Given the description of an element on the screen output the (x, y) to click on. 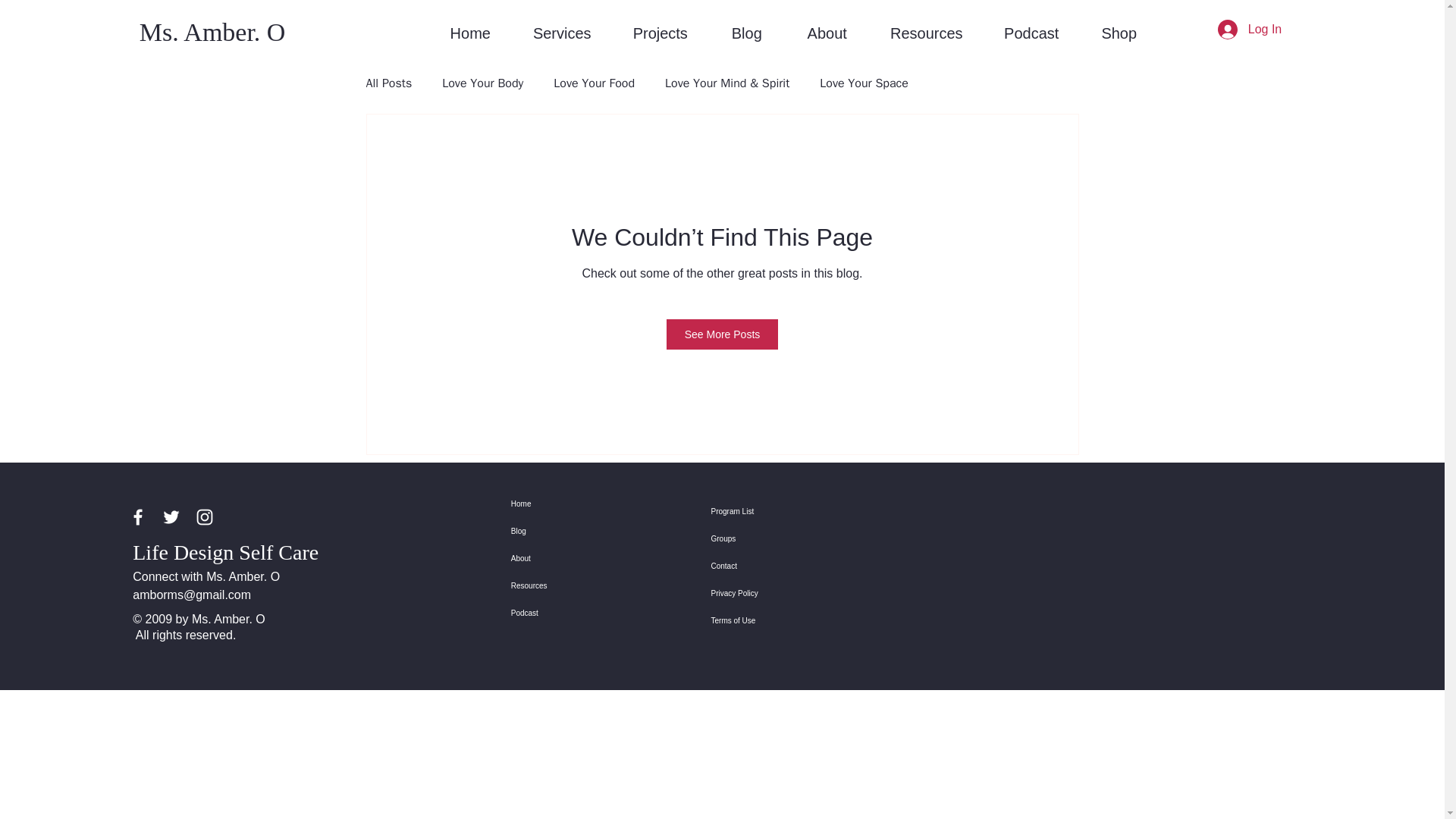
Log In (1249, 29)
Blog (746, 33)
See More Posts (722, 334)
All Posts (388, 83)
Resources (564, 585)
Love Your Body (482, 83)
Love Your Space (863, 83)
Home (470, 33)
About (826, 33)
Privacy Policy (764, 593)
